Given the description of an element on the screen output the (x, y) to click on. 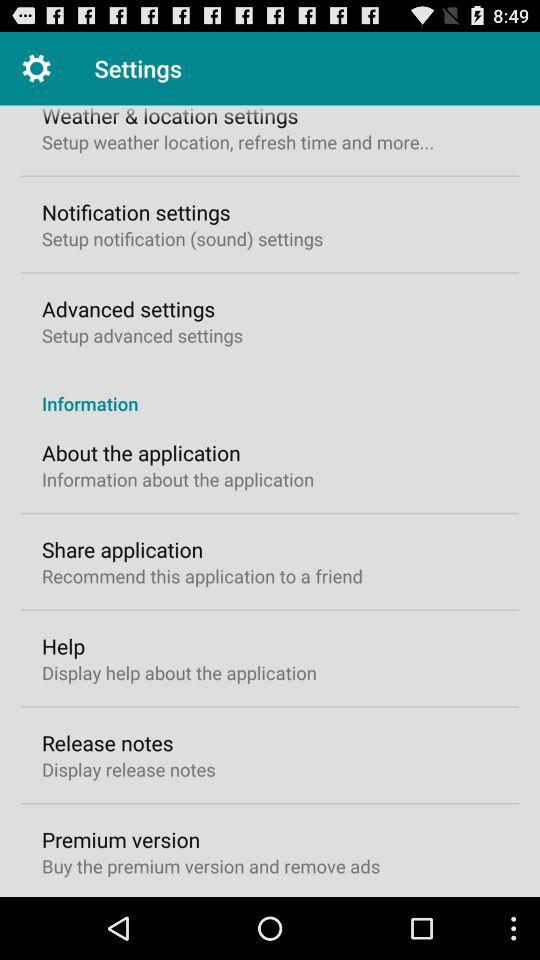
launch the item above the recommend this application (122, 549)
